Given the description of an element on the screen output the (x, y) to click on. 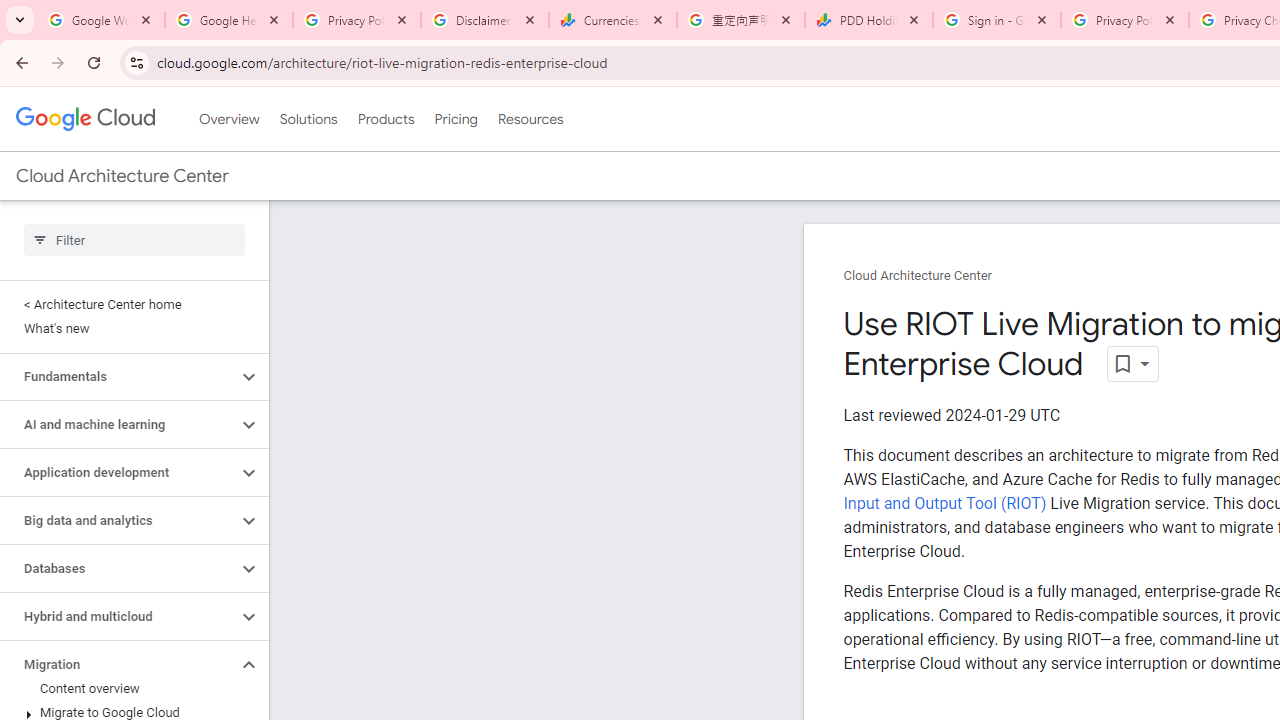
Big data and analytics (118, 520)
Google Cloud (84, 118)
Content overview (130, 688)
Type to filter (134, 239)
< Architecture Center home (130, 304)
Solutions (308, 119)
Cloud Architecture Center (917, 276)
